Given the description of an element on the screen output the (x, y) to click on. 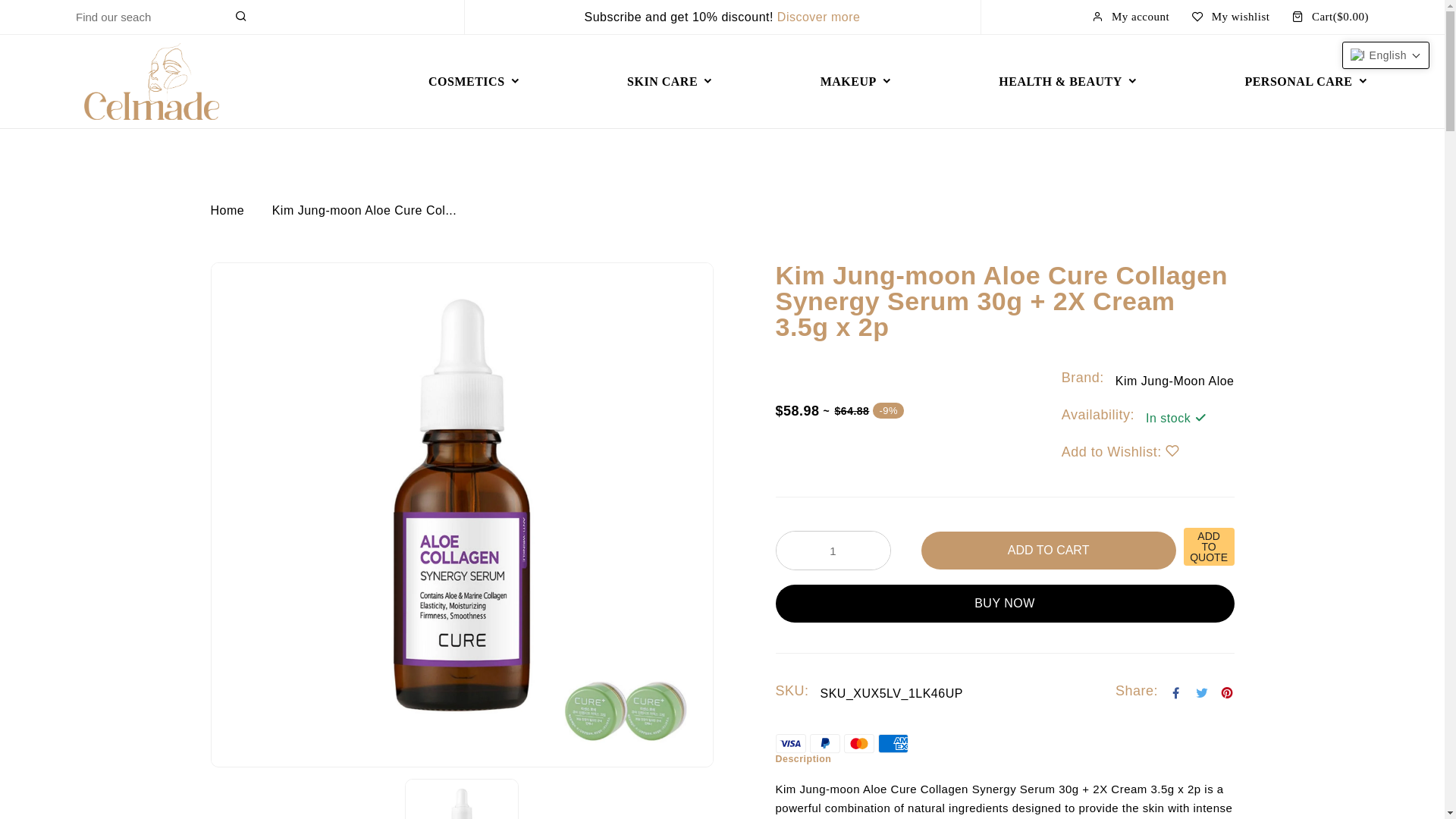
Back to the home page (227, 210)
1 (832, 550)
All collections (818, 16)
Wishlist (1172, 452)
SKIN CARE (670, 81)
MAKEUP (857, 81)
Share on Twitter (1202, 694)
My account (1130, 16)
Wishlist (1230, 16)
Share on Pinterest (1227, 694)
My wishlist (1230, 16)
Discover more (818, 16)
COSMETICS (474, 81)
Share on Facebook (1176, 694)
